Given the description of an element on the screen output the (x, y) to click on. 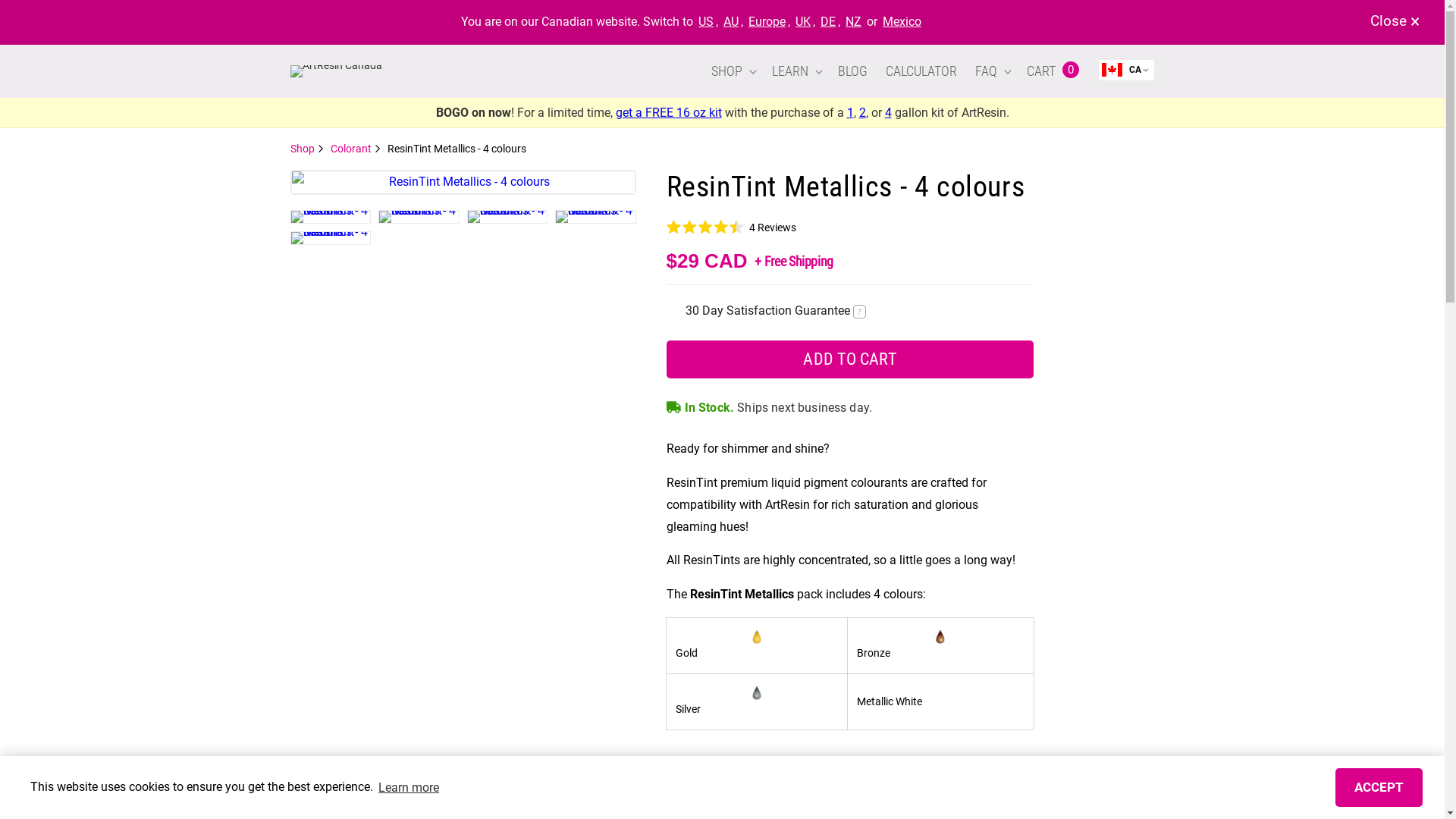
CART Element type: text (1038, 70)
UK Element type: text (802, 21)
Mexico Element type: text (901, 21)
US Element type: text (705, 21)
ACCEPT Element type: text (1378, 787)
Europe Element type: text (766, 21)
CA Element type: text (1126, 70)
Learn more Element type: text (408, 786)
2 Element type: text (861, 112)
get a FREE 16 oz kit Element type: text (668, 112)
NZ Element type: text (853, 21)
Shop Element type: text (306, 148)
30 Day Satisfaction Guarantee ? Element type: text (775, 310)
Colorant Element type: text (355, 148)
1 Element type: text (849, 112)
AU Element type: text (730, 21)
4 Element type: text (887, 112)
ADD TO CART Element type: text (848, 359)
CALCULATOR Element type: text (921, 70)
BLOG Element type: text (851, 70)
SKIP TO PRODUCT INFORMATION Element type: text (300, 177)
DE Element type: text (827, 21)
